Given the description of an element on the screen output the (x, y) to click on. 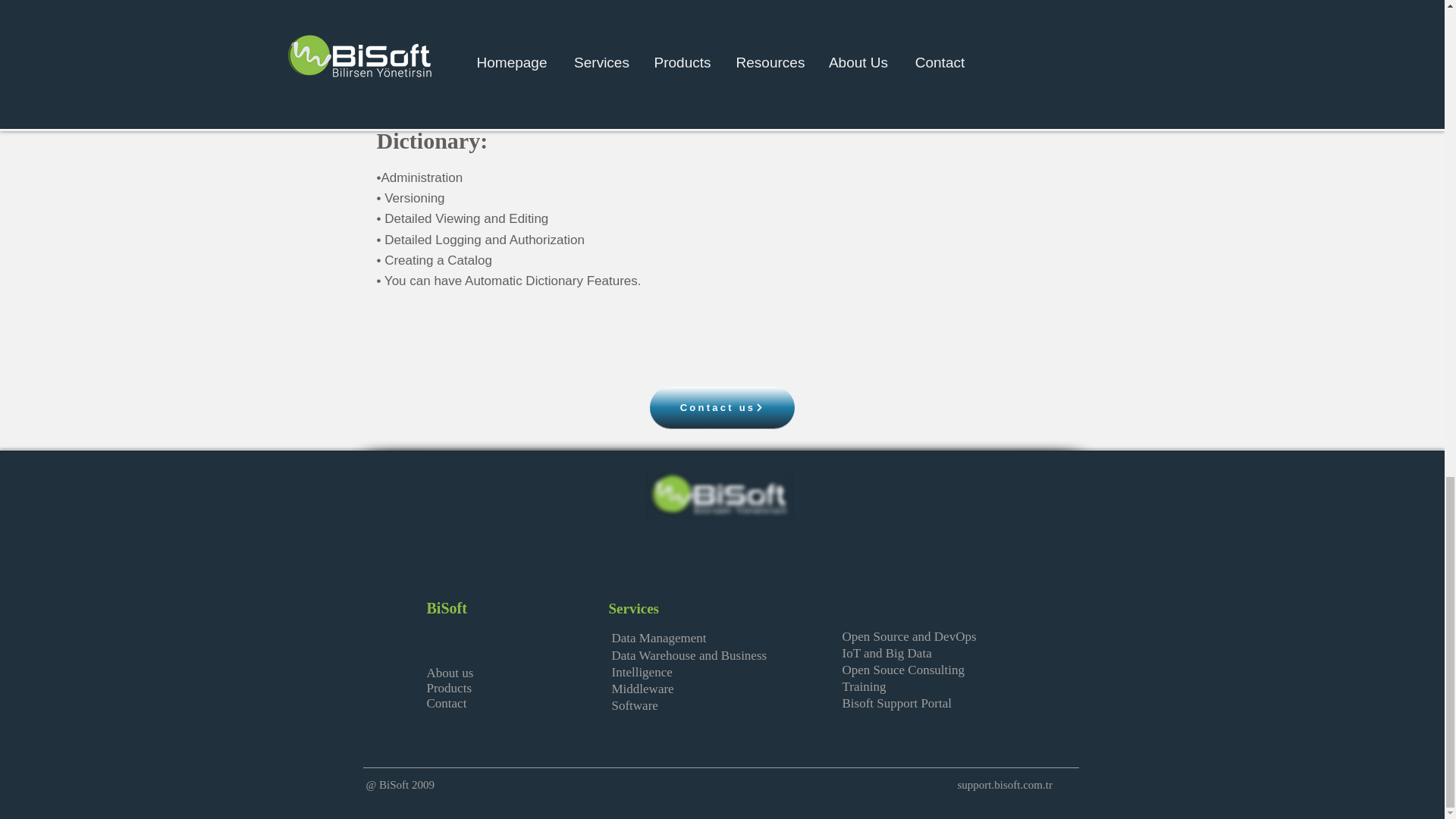
support.bisoft.com.tr (1003, 784)
Training (863, 686)
Contact us (721, 407)
